Given the description of an element on the screen output the (x, y) to click on. 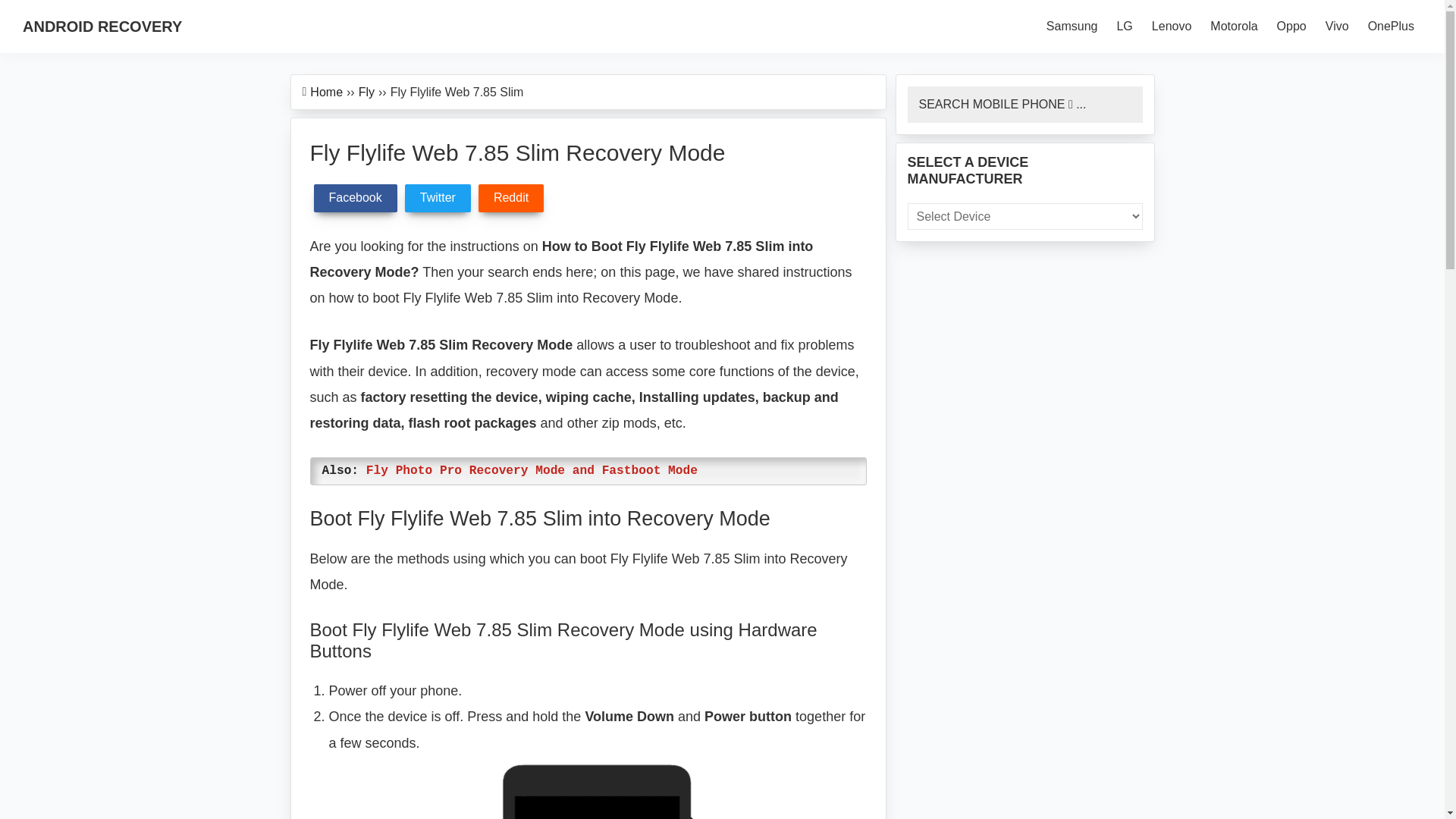
Twitter (437, 197)
Fly Photo Pro Recovery Mode and Fastboot Mode (531, 470)
LG (1124, 26)
Lenovo (1171, 26)
Home (326, 91)
ANDROID RECOVERY (102, 26)
Samsung (1072, 26)
OnePlus (1390, 26)
Motorola (1233, 26)
Oppo (1291, 26)
Fly Flylife Web 7.85 Slim Recovery Mode and Fastboot Mode (597, 787)
Reddit (511, 197)
Vivo (1336, 26)
